Given the description of an element on the screen output the (x, y) to click on. 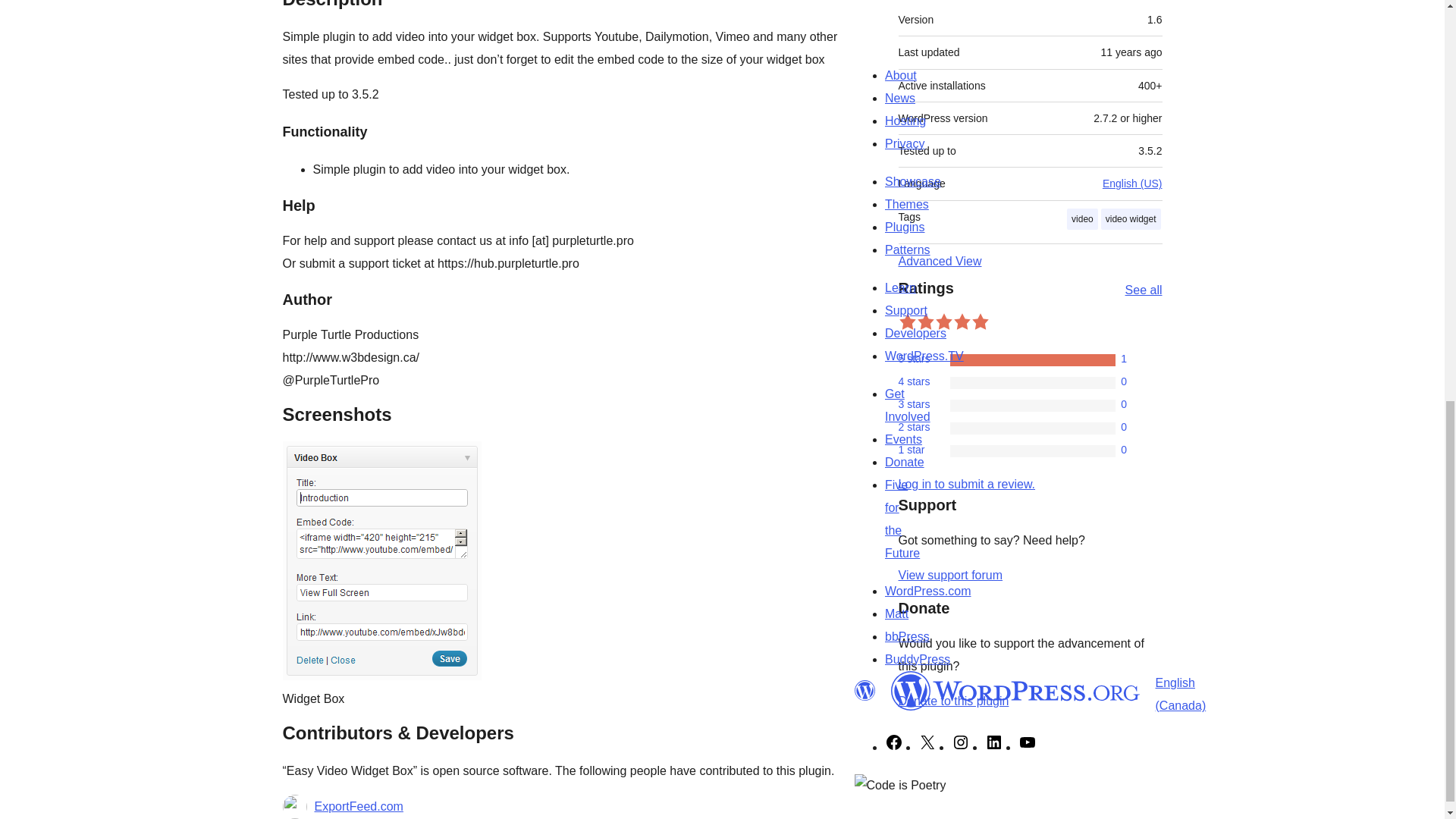
WordPress.org (1014, 690)
WordPress.org (864, 690)
Log in to WordPress.org (966, 483)
ExportFeed.com (358, 806)
